Given the description of an element on the screen output the (x, y) to click on. 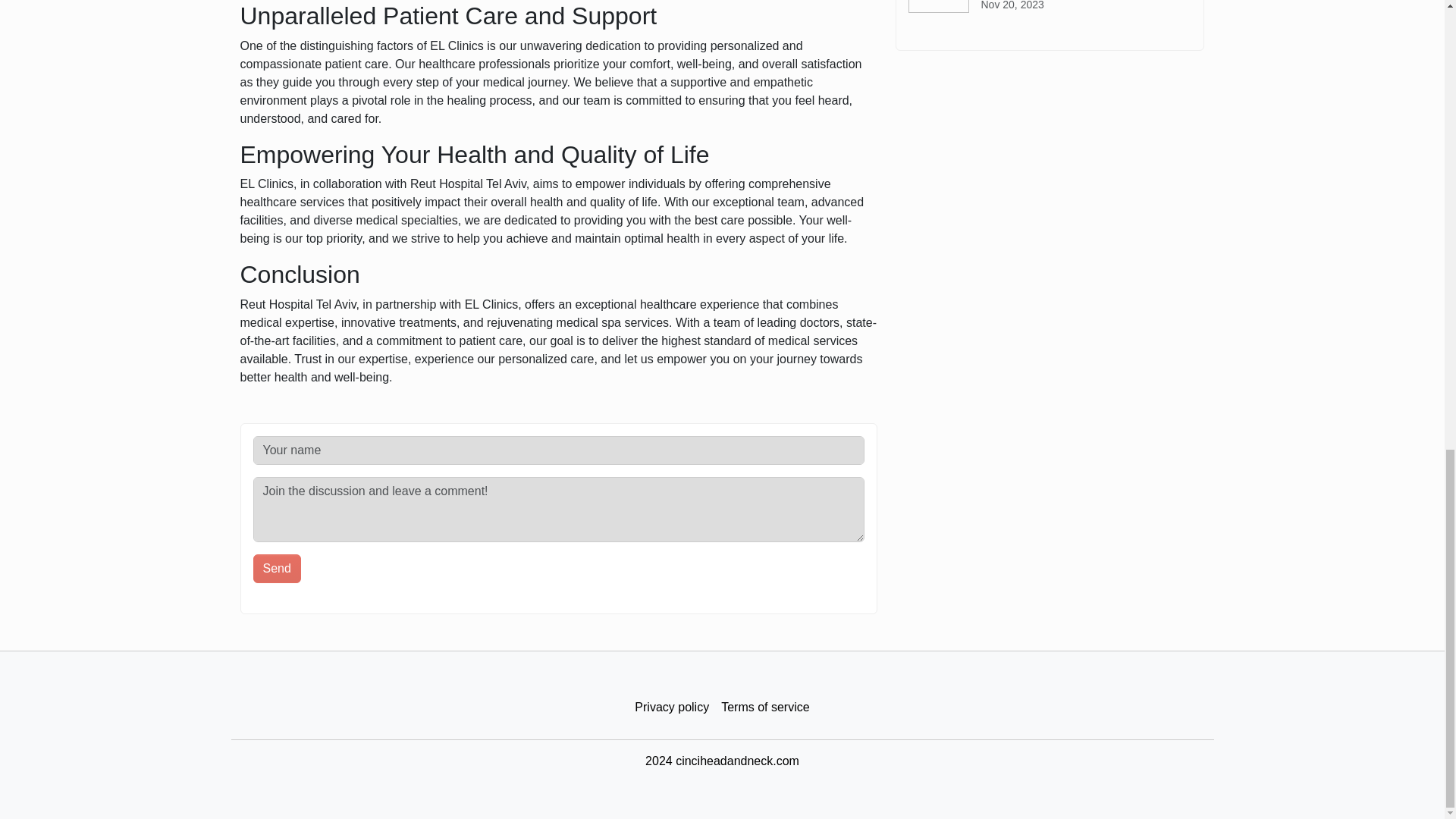
Send (277, 568)
Send (277, 568)
Privacy policy (671, 707)
Terms of service (764, 707)
